Given the description of an element on the screen output the (x, y) to click on. 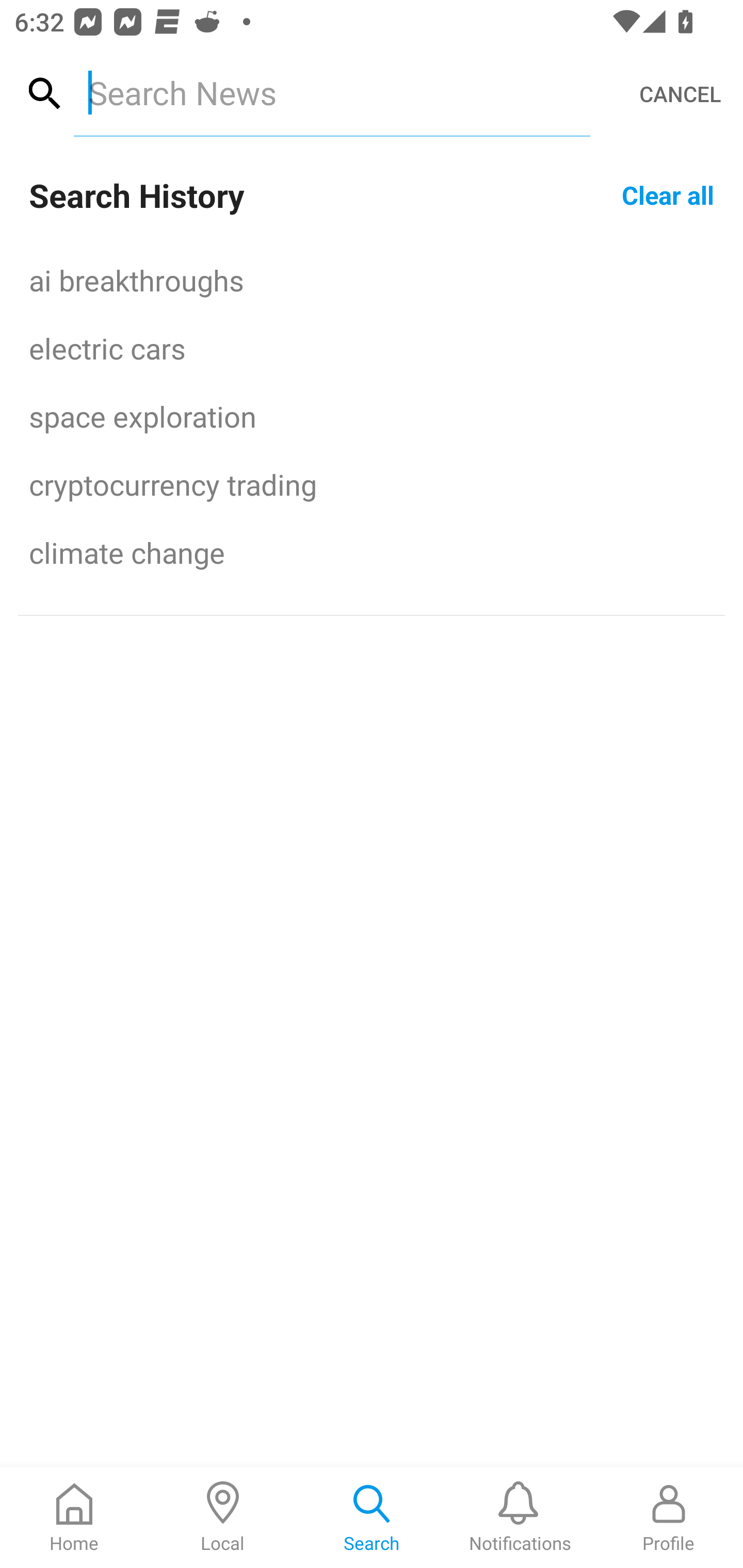
CANCEL (680, 93)
Search News (331, 92)
Clear all (667, 194)
ai breakthroughs (371, 279)
electric cars (371, 347)
space exploration (371, 416)
cryptocurrency trading (371, 484)
climate change (371, 552)
Home (74, 1517)
Local (222, 1517)
Notifications (519, 1517)
Profile (668, 1517)
